Given the description of an element on the screen output the (x, y) to click on. 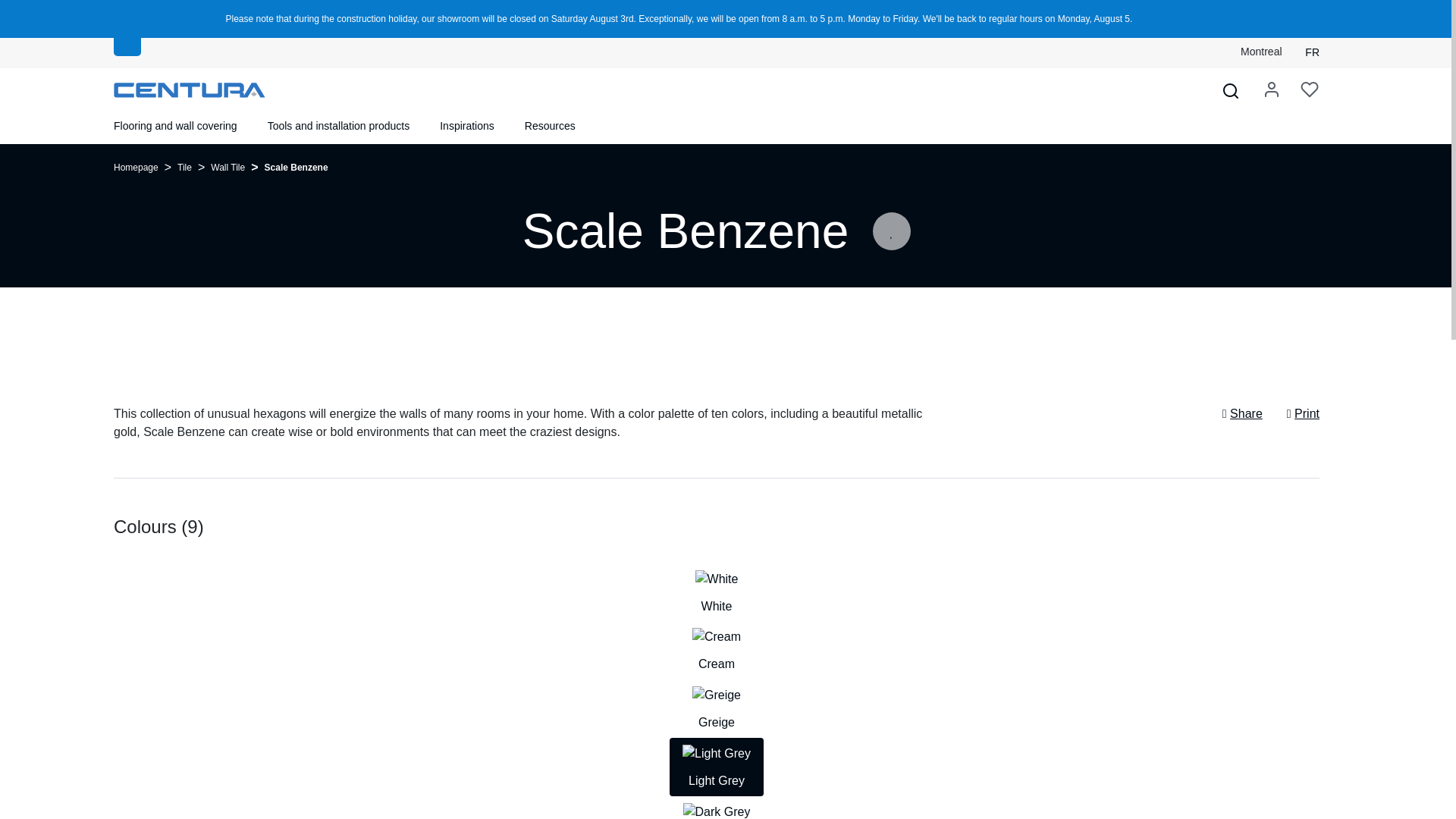
Close (1237, 14)
toggle (126, 46)
Apply (21, 11)
FR (1311, 51)
